Given the description of an element on the screen output the (x, y) to click on. 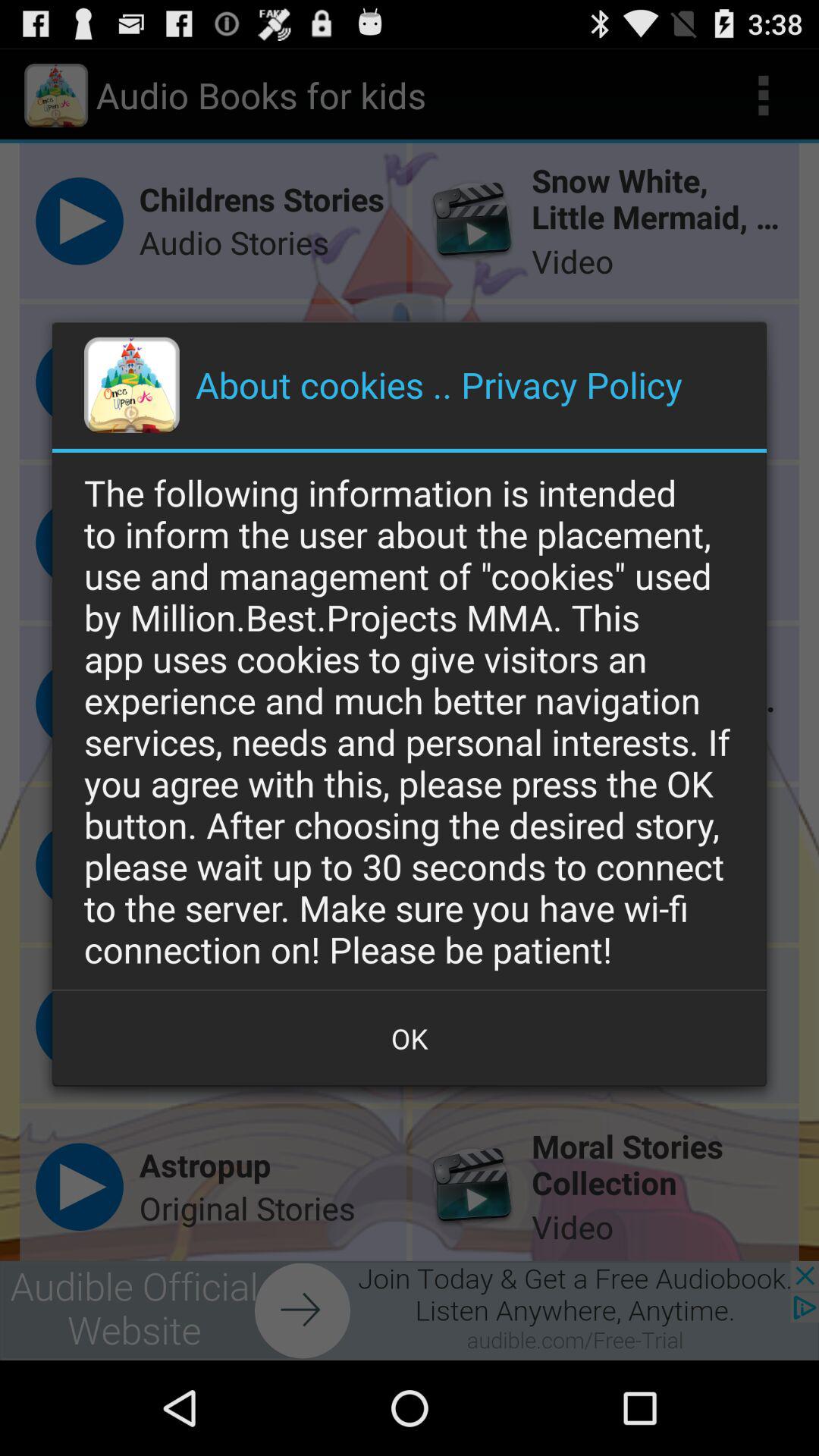
click icon below the following information icon (409, 1038)
